Given the description of an element on the screen output the (x, y) to click on. 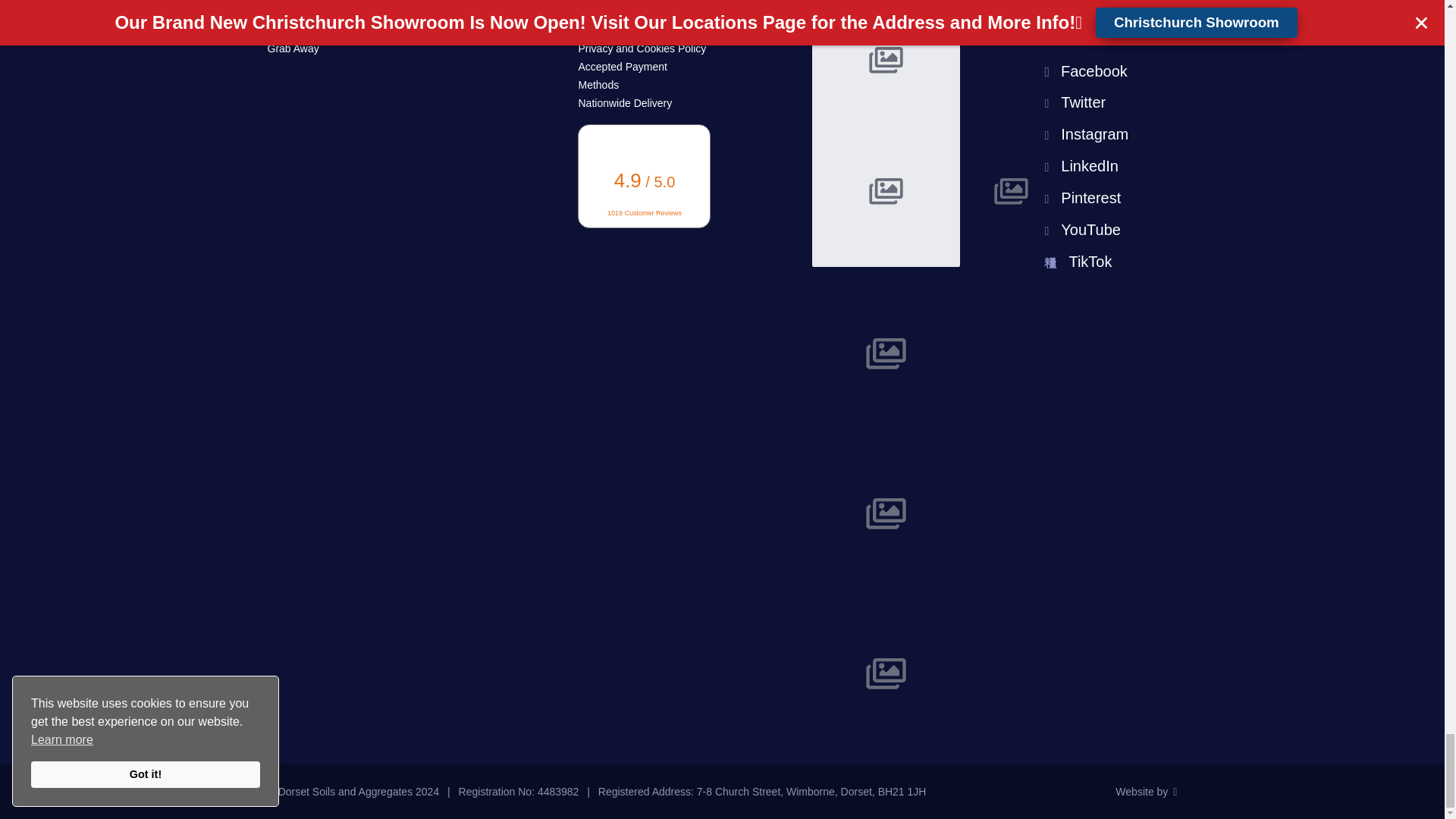
PayPal (886, 58)
